Given the description of an element on the screen output the (x, y) to click on. 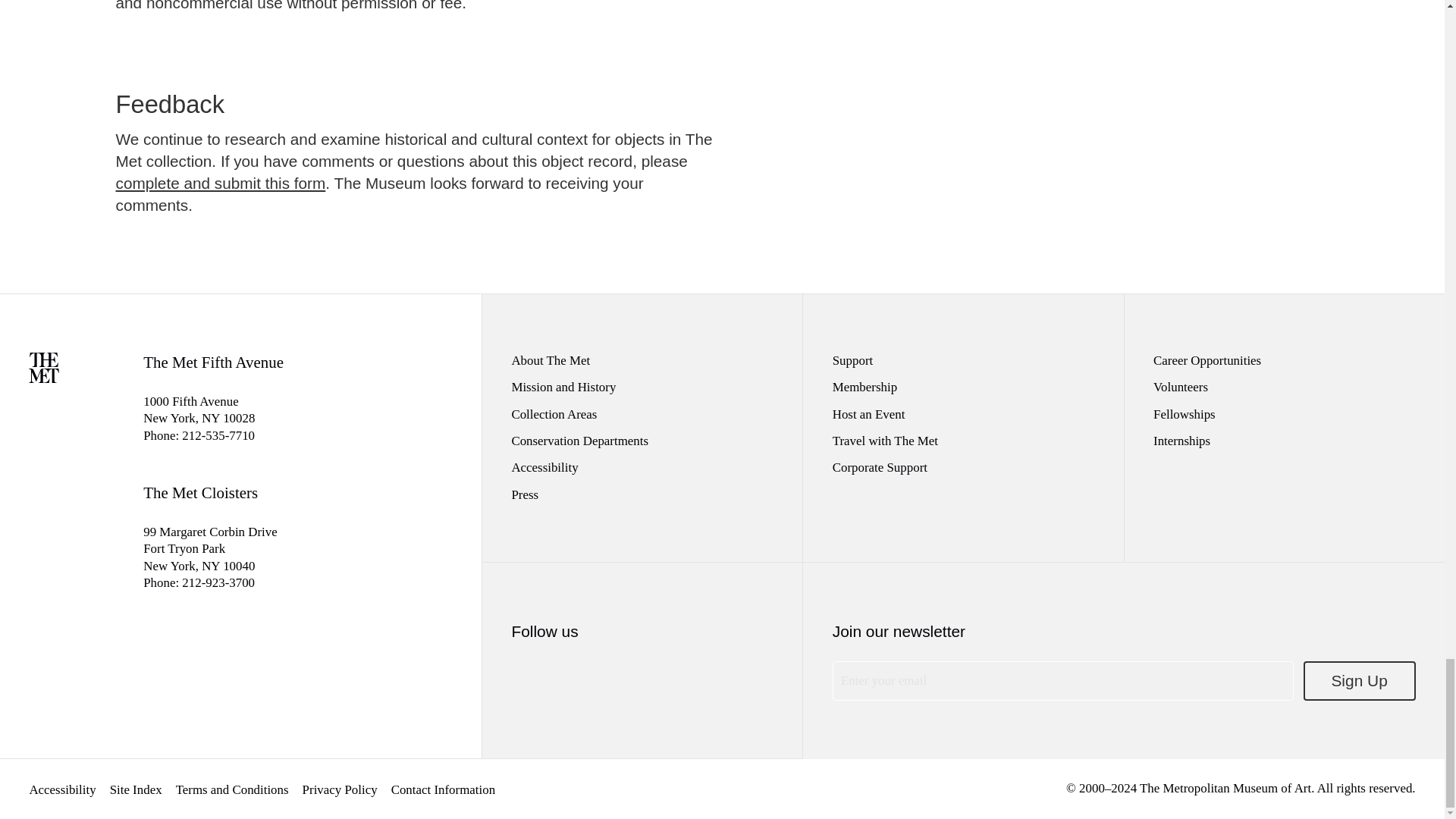
Homepage (44, 377)
